Given the description of an element on the screen output the (x, y) to click on. 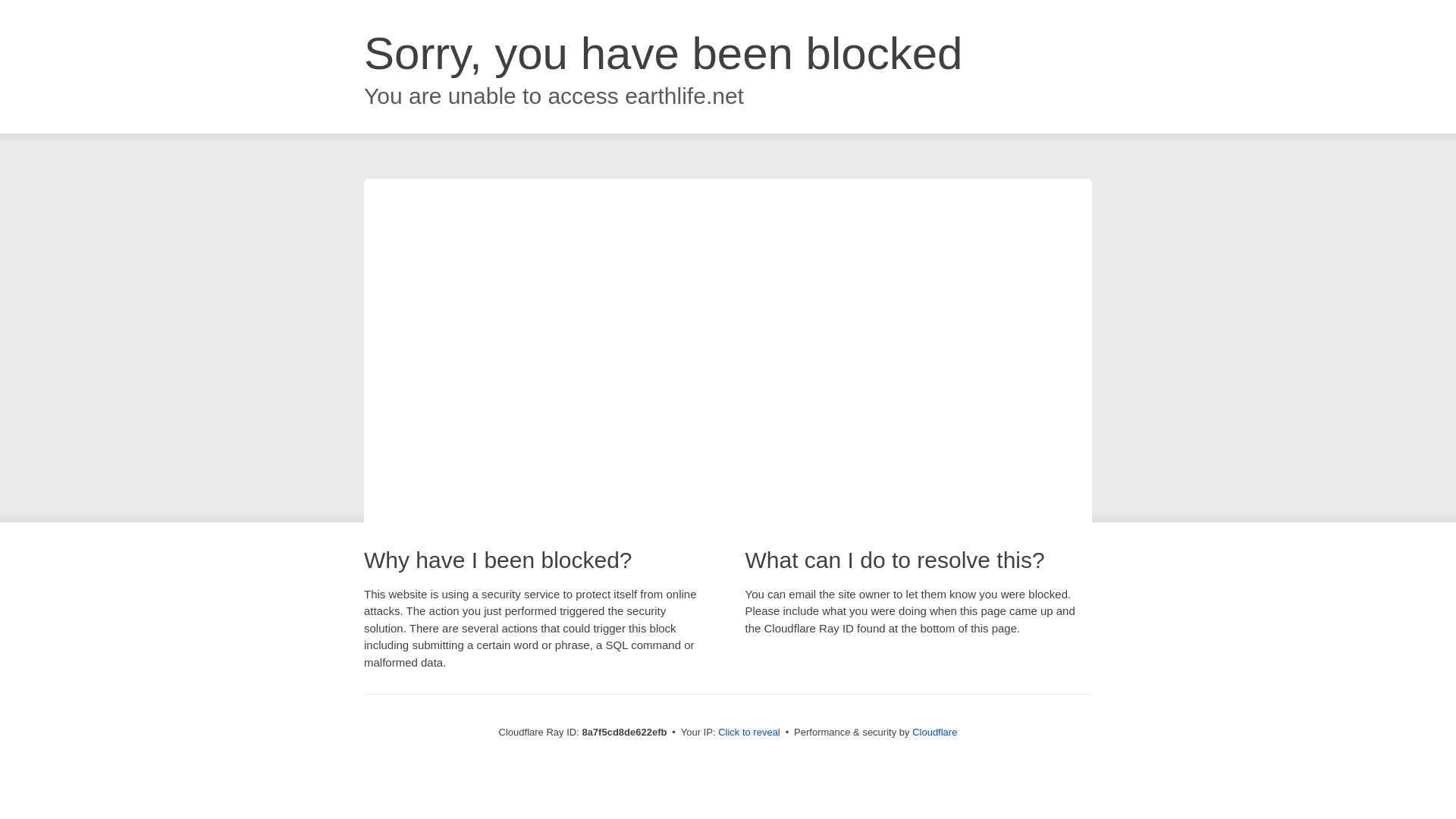
Click to reveal (748, 732)
Cloudflare (934, 731)
